Given the description of an element on the screen output the (x, y) to click on. 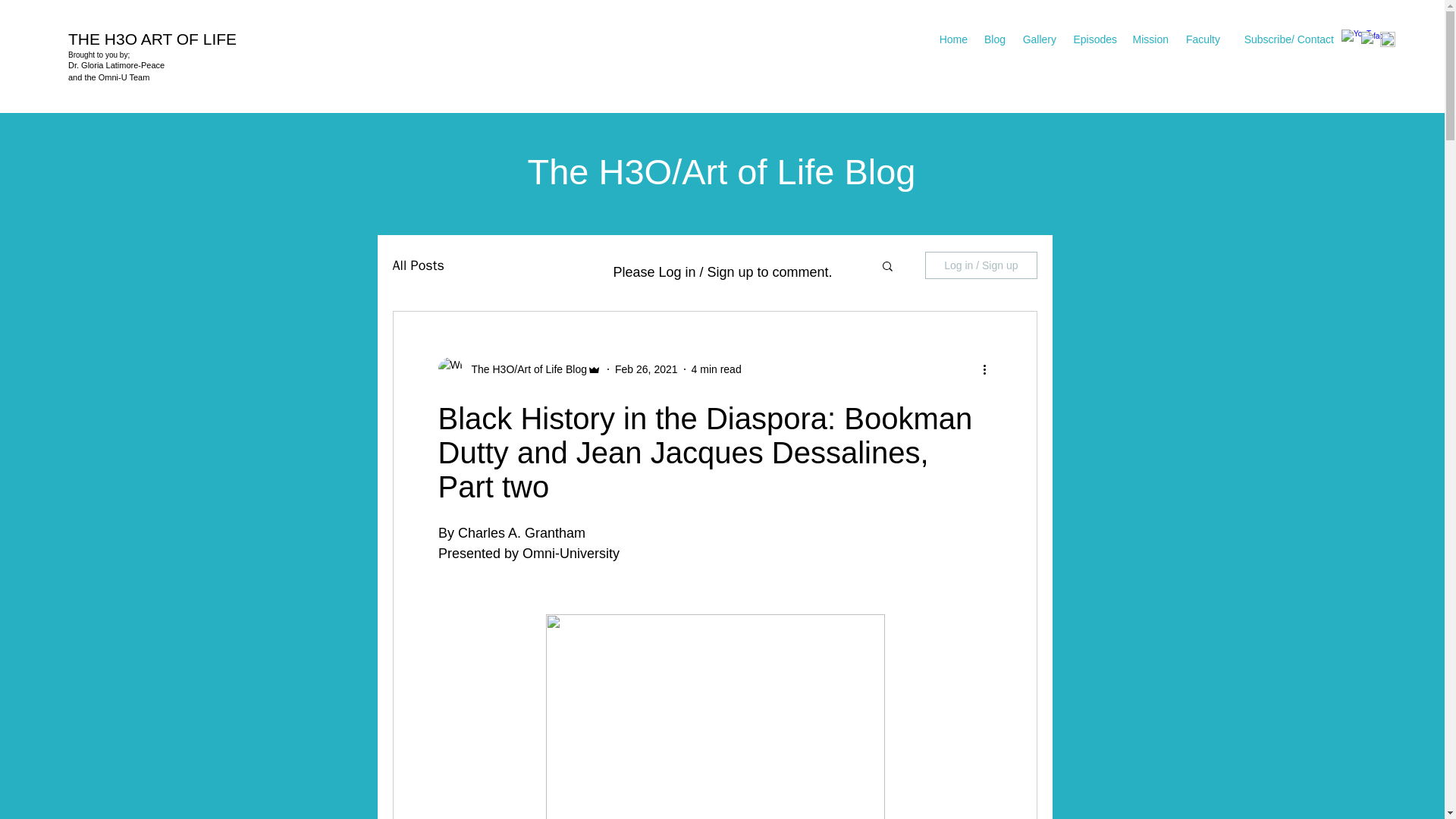
Dr. Gloria Latimore-Peace (116, 64)
Home (952, 38)
All Posts (418, 265)
Blog (994, 38)
Episodes (1094, 38)
THE H3O ART OF LIFE  (154, 38)
Mission (1150, 38)
and the Omni-U Team  (109, 76)
Gallery (1038, 38)
4 min read (716, 369)
Feb 26, 2021 (646, 369)
Brought to you by; (98, 54)
Faculty (1201, 38)
